Given the description of an element on the screen output the (x, y) to click on. 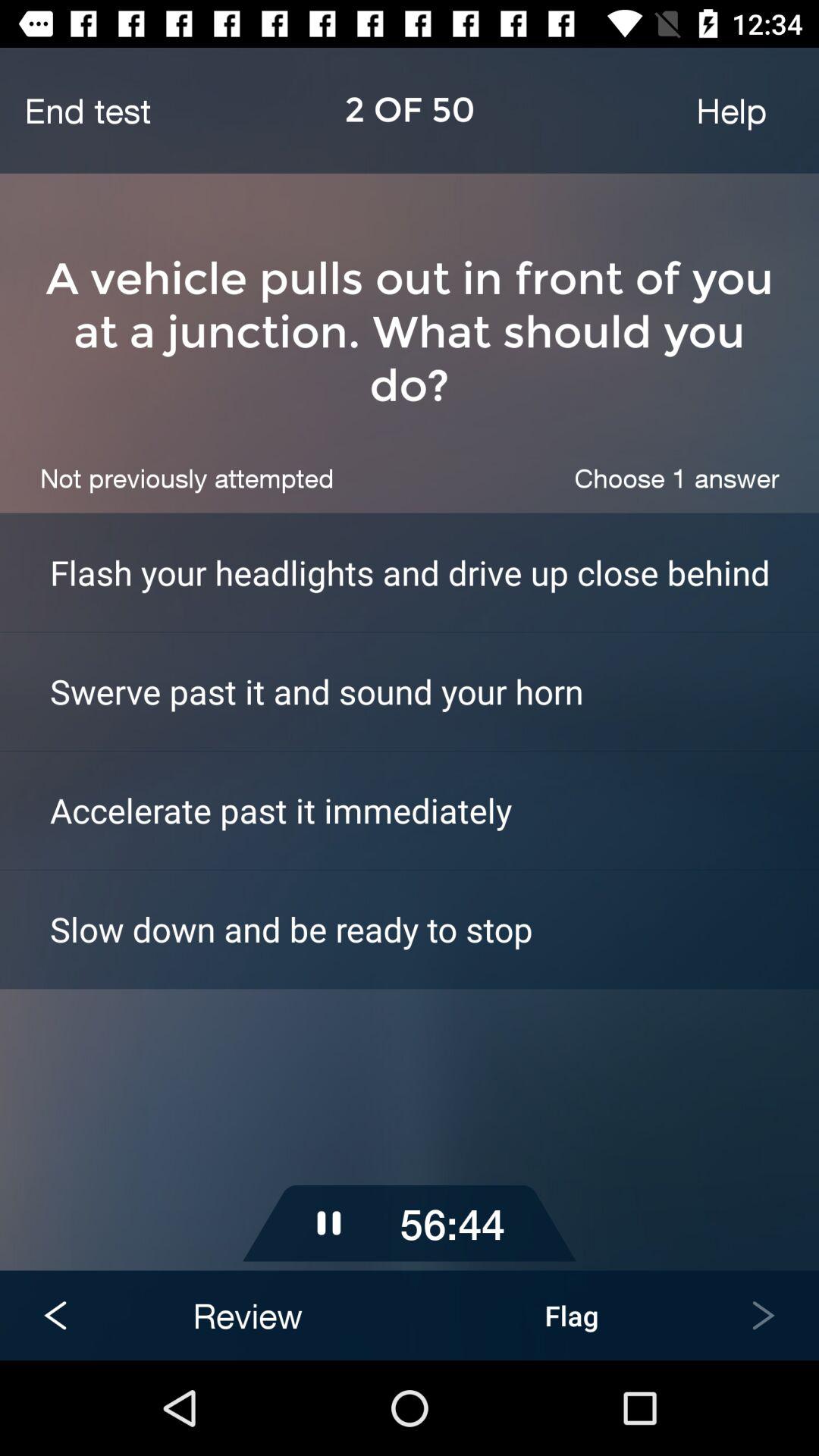
open the icon next to flag item (246, 1315)
